Given the description of an element on the screen output the (x, y) to click on. 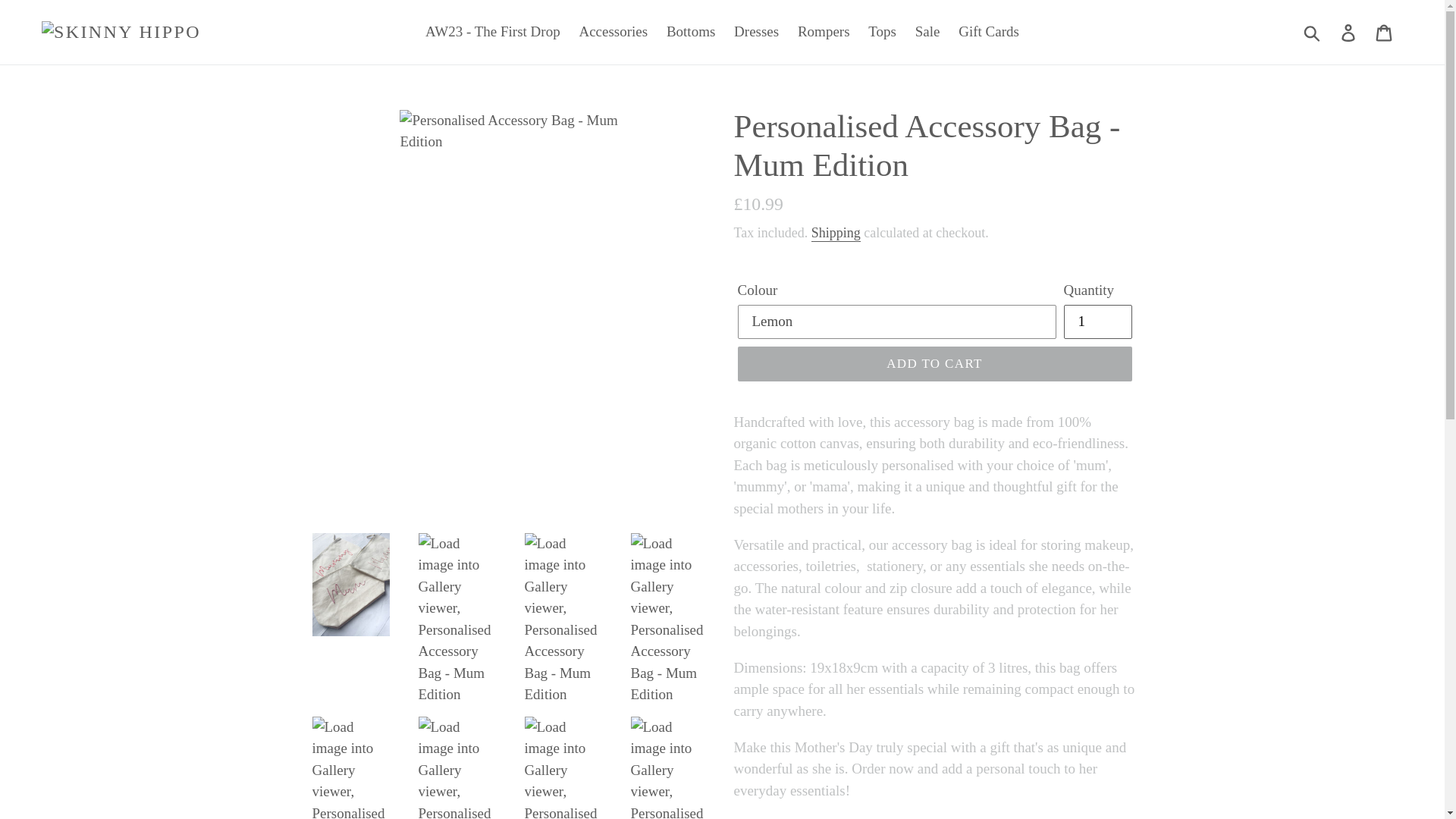
AW23 - The First Drop (492, 31)
Dresses (756, 31)
Tops (882, 31)
Rompers (823, 31)
Accessories (612, 31)
Submit (1313, 32)
Sale (927, 31)
Bottoms (690, 31)
Gift Cards (988, 31)
Log in (1349, 31)
1 (1096, 321)
Cart (1385, 31)
